Given the description of an element on the screen output the (x, y) to click on. 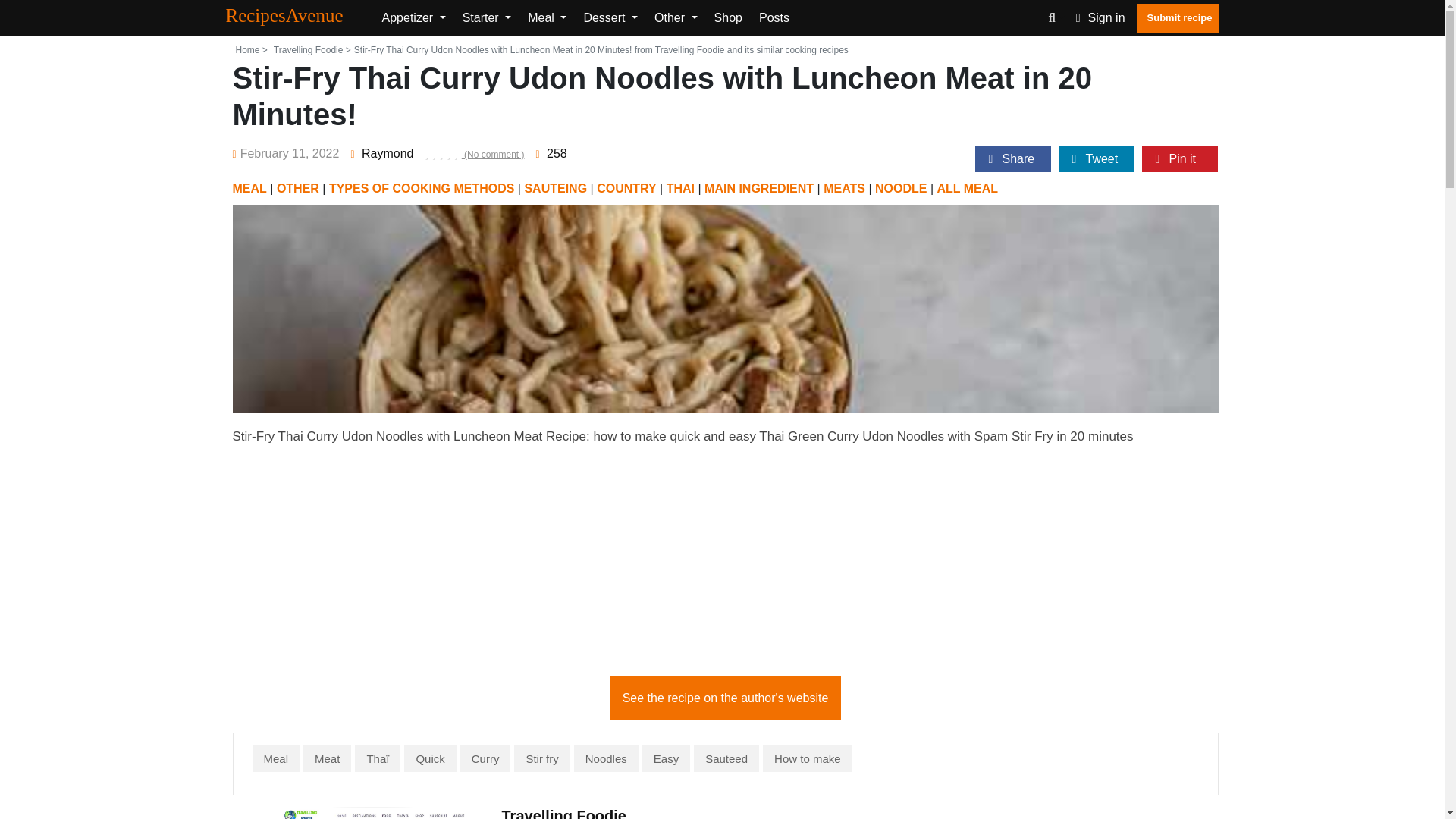
Starter (487, 18)
Appetizer (413, 18)
Meal (546, 18)
RecipesAvenue (297, 16)
